Given the description of an element on the screen output the (x, y) to click on. 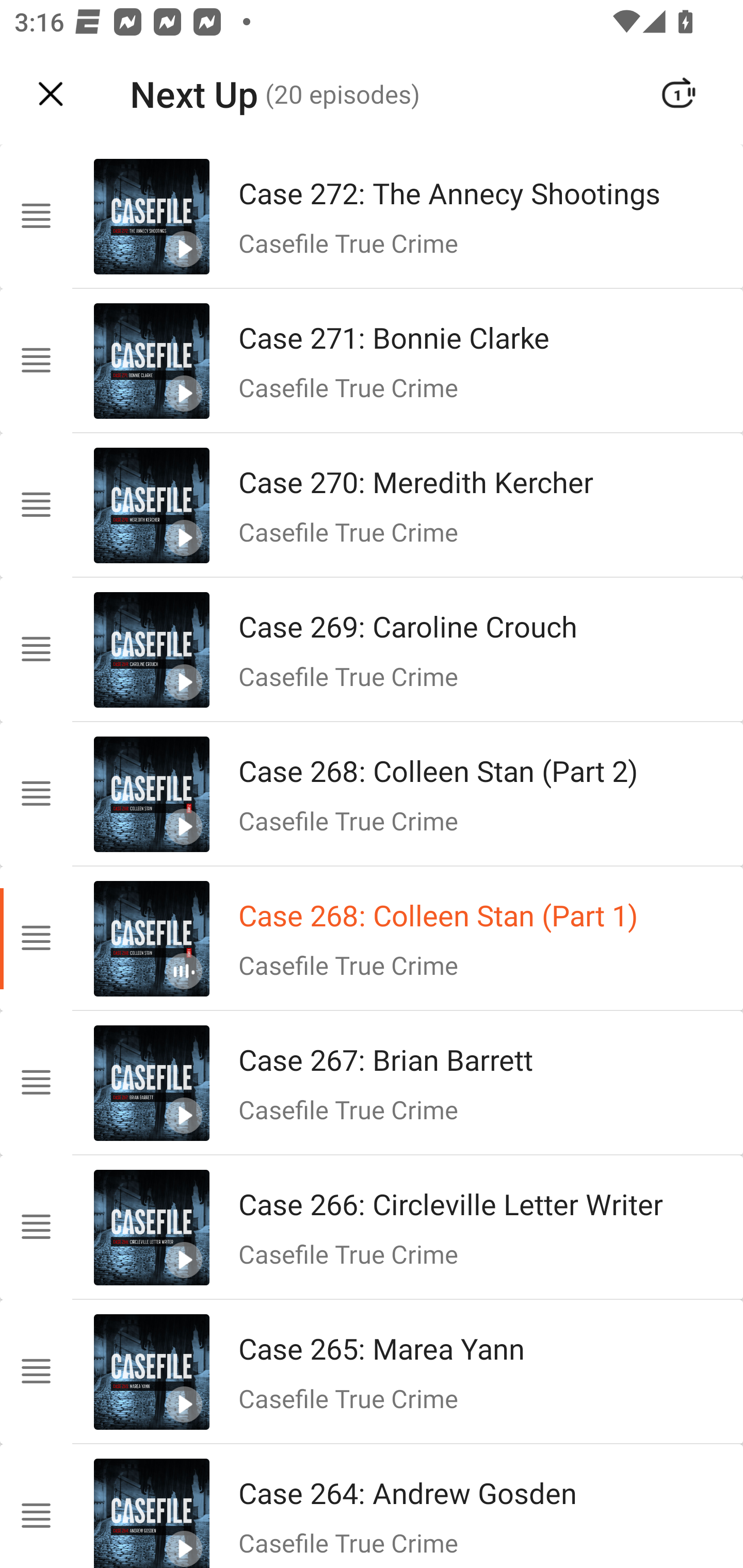
Navigate up (50, 93)
